Given the description of an element on the screen output the (x, y) to click on. 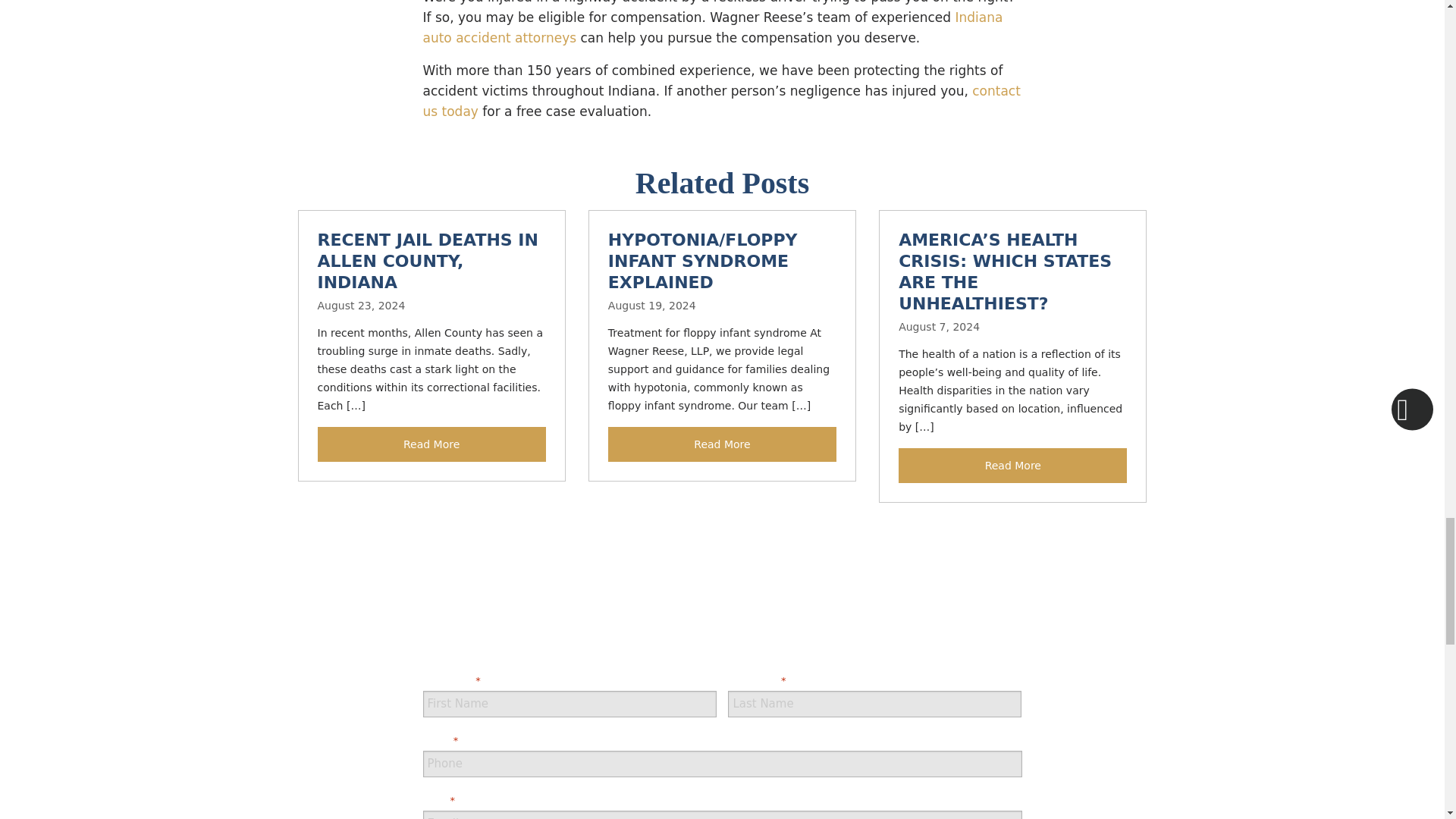
Read More (721, 443)
Recent Jail Deaths in Allen County, Indiana (427, 260)
Read More (430, 443)
Read More (1012, 465)
